Given the description of an element on the screen output the (x, y) to click on. 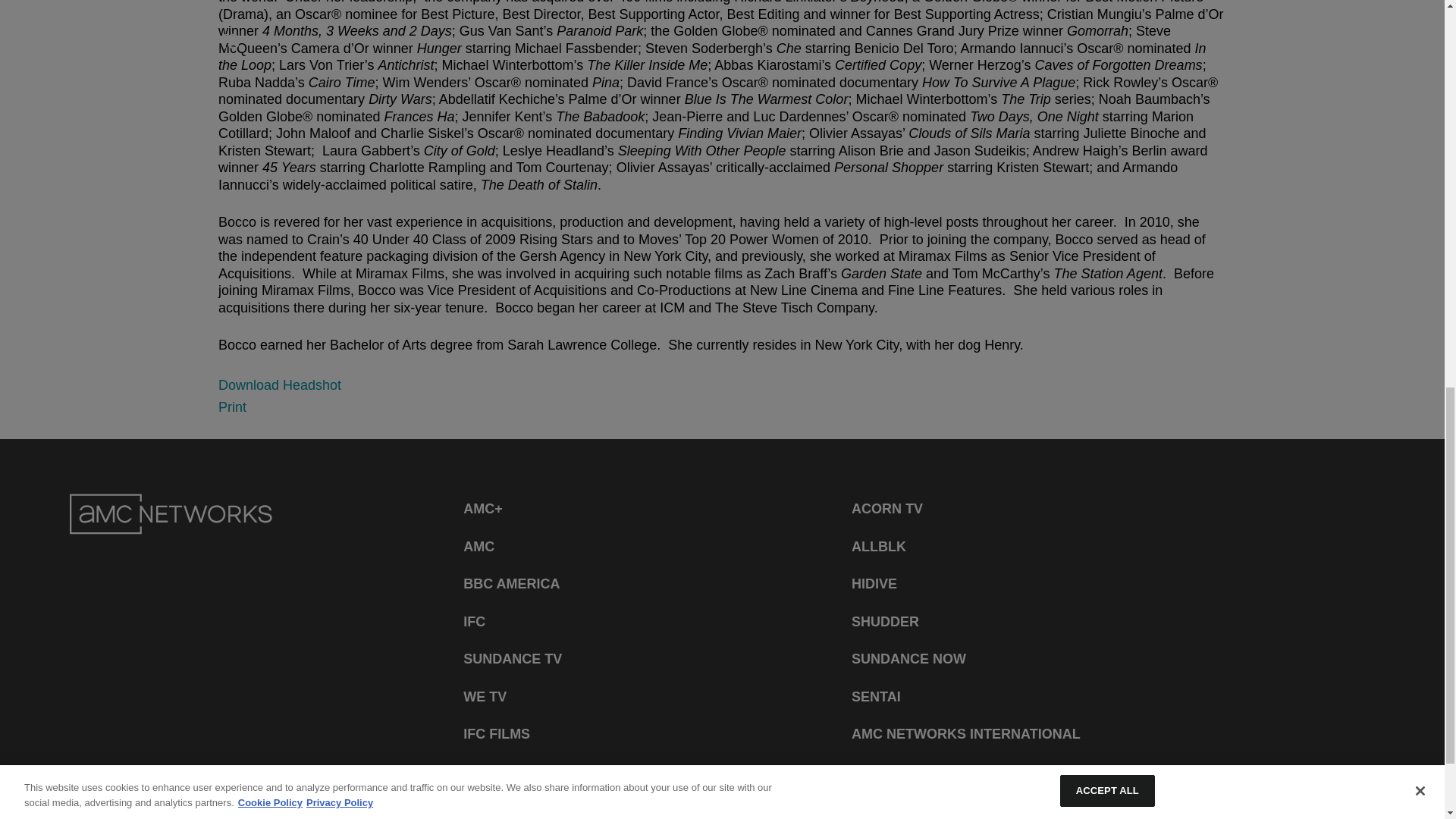
HIDIVE (873, 583)
ALLBLK (878, 546)
Print (232, 406)
AMC (479, 546)
SUNDANCE TV (512, 658)
BBC AMERICA (511, 583)
Download Headshot (279, 385)
AMC Networks (170, 513)
IFC FILMS (496, 734)
SHUDDER (884, 622)
WE TV (484, 696)
ACORN TV (887, 508)
